Given the description of an element on the screen output the (x, y) to click on. 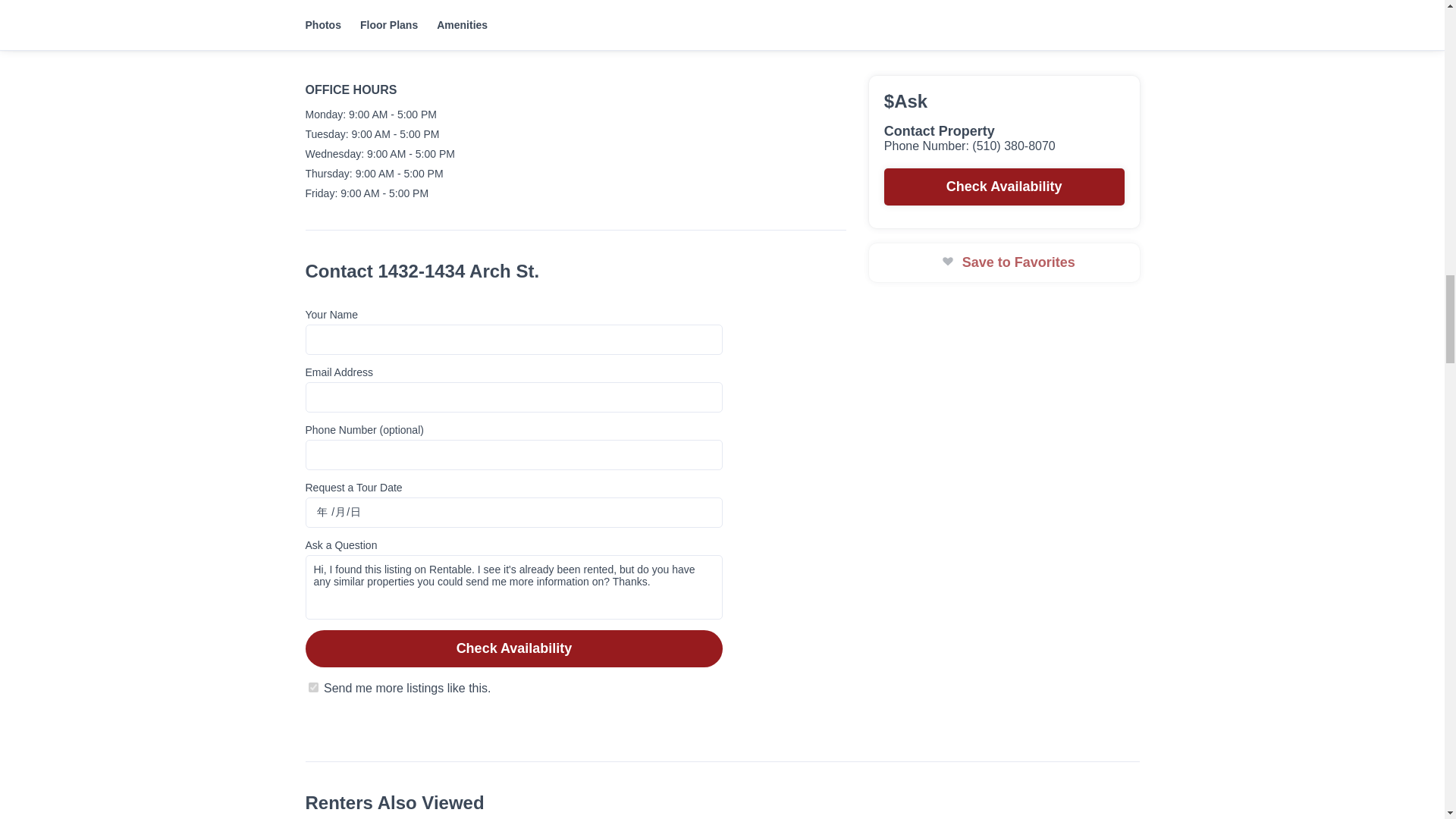
Floor Plans (397, 720)
Amenities (471, 720)
Check Availability (513, 648)
true (312, 687)
Photos (331, 720)
